Given the description of an element on the screen output the (x, y) to click on. 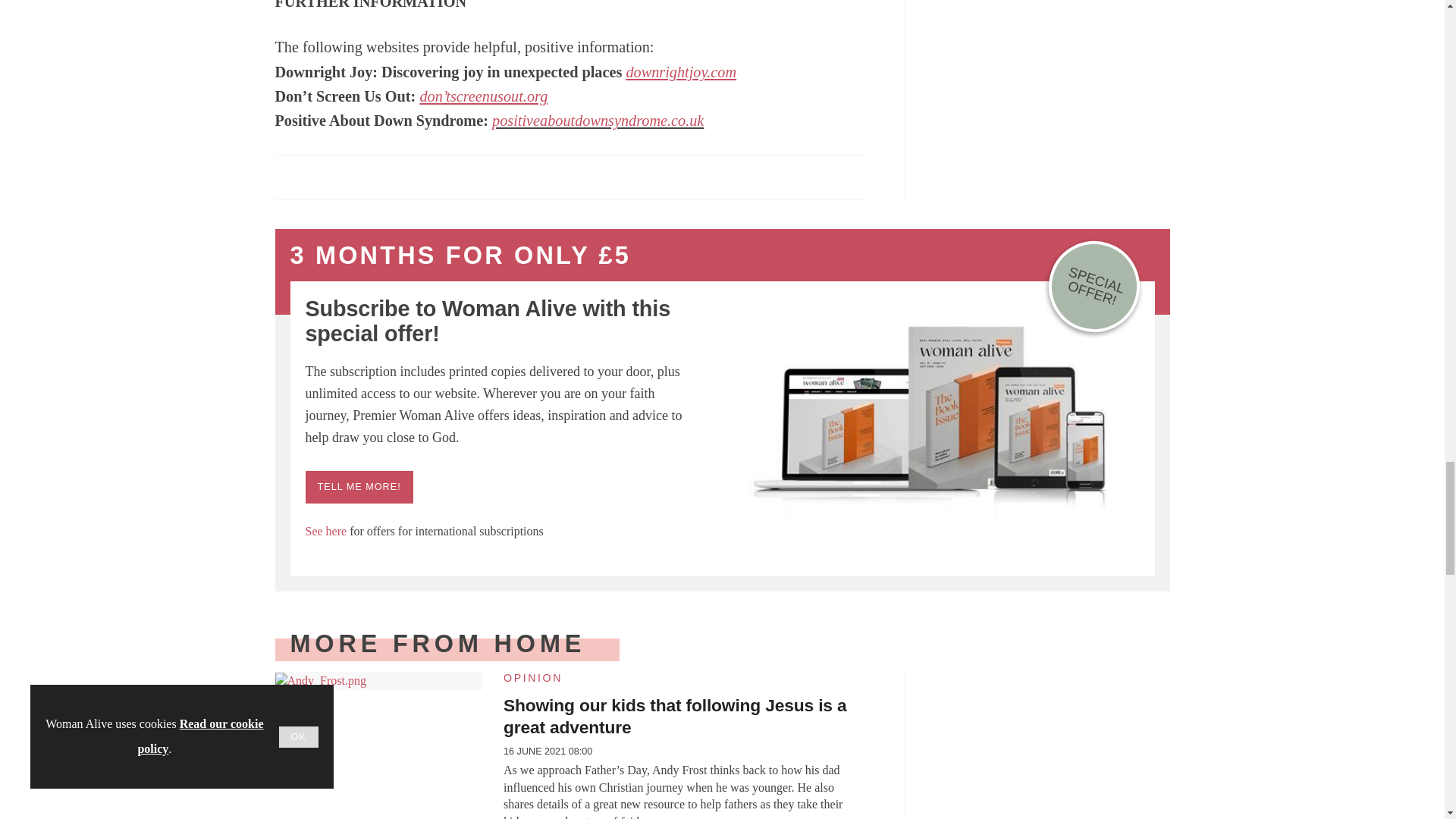
Share this on Facebook (288, 176)
Email this article (386, 176)
Share this on Twitter (320, 176)
Share this on Linked in (352, 176)
